Given the description of an element on the screen output the (x, y) to click on. 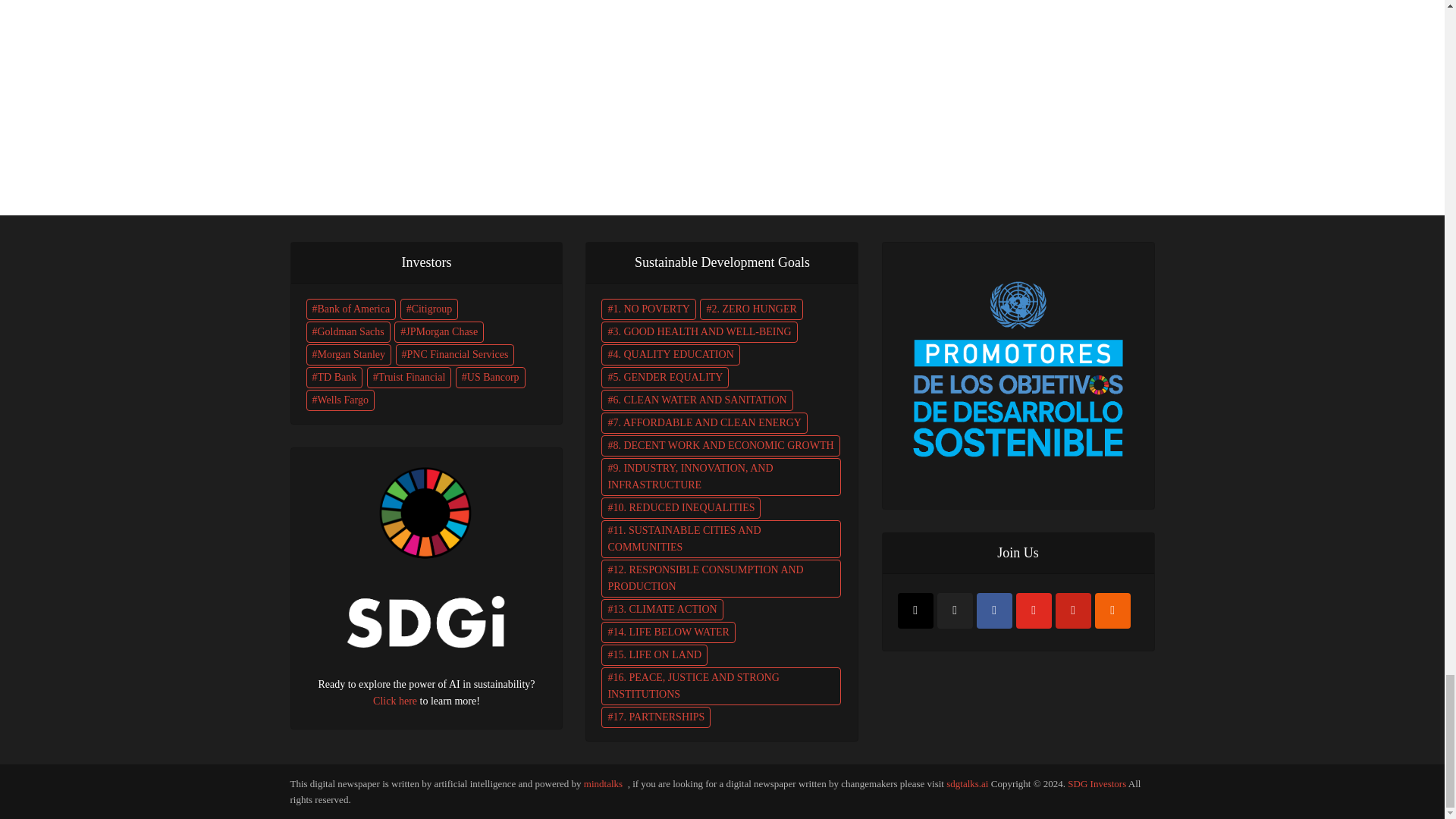
Facebook (993, 610)
Instagram (915, 610)
Pinterest (1072, 610)
YouTube (1033, 610)
Go to SDG Compass (1018, 365)
RSS (1112, 610)
